Given the description of an element on the screen output the (x, y) to click on. 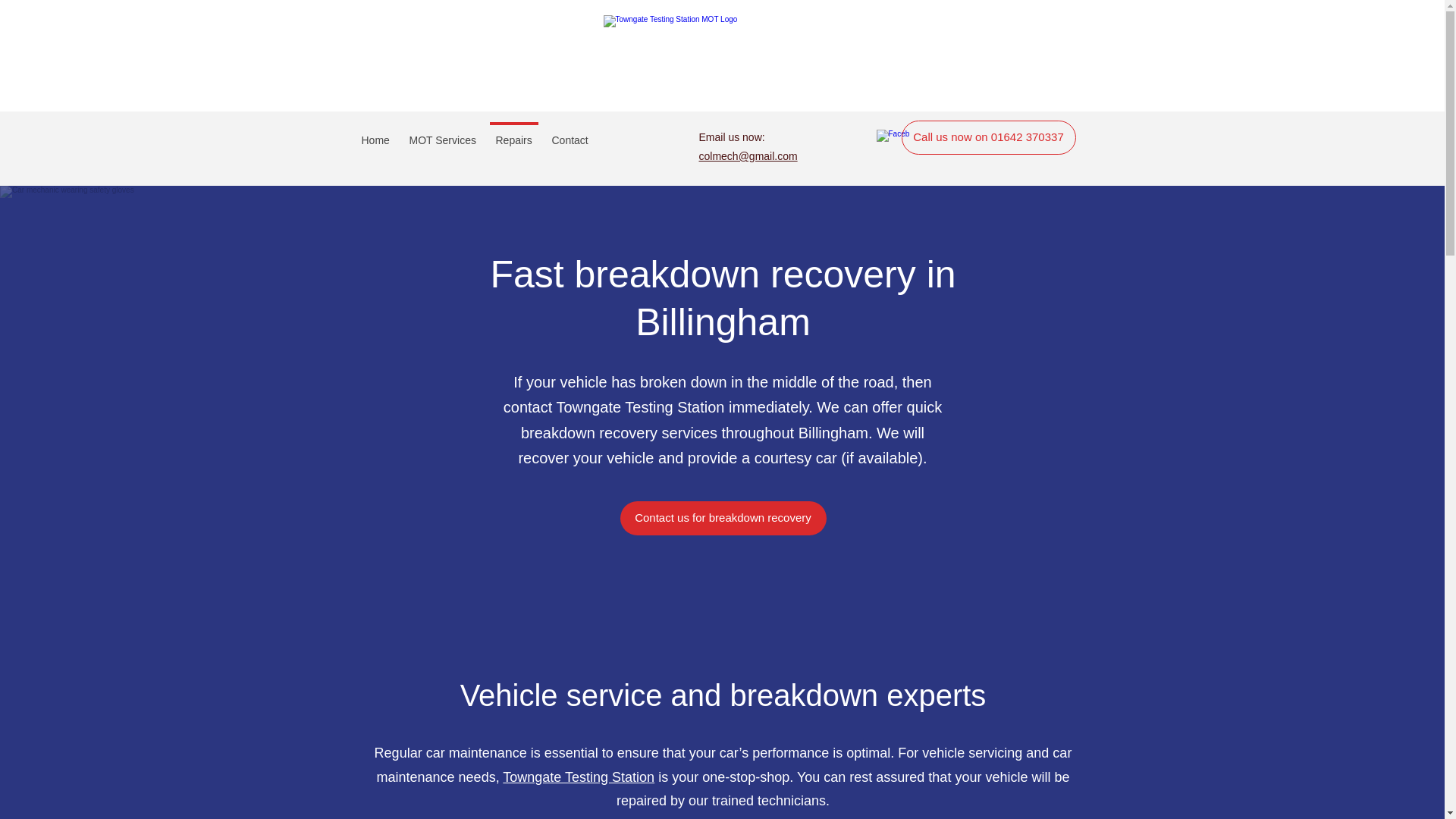
Call us now on 01642 370337 (988, 137)
Repairs (512, 133)
Home (375, 133)
Contact us for breakdown recovery (723, 518)
MOT Services (441, 133)
Contact (568, 133)
Towngate Testing Station (577, 776)
